Given the description of an element on the screen output the (x, y) to click on. 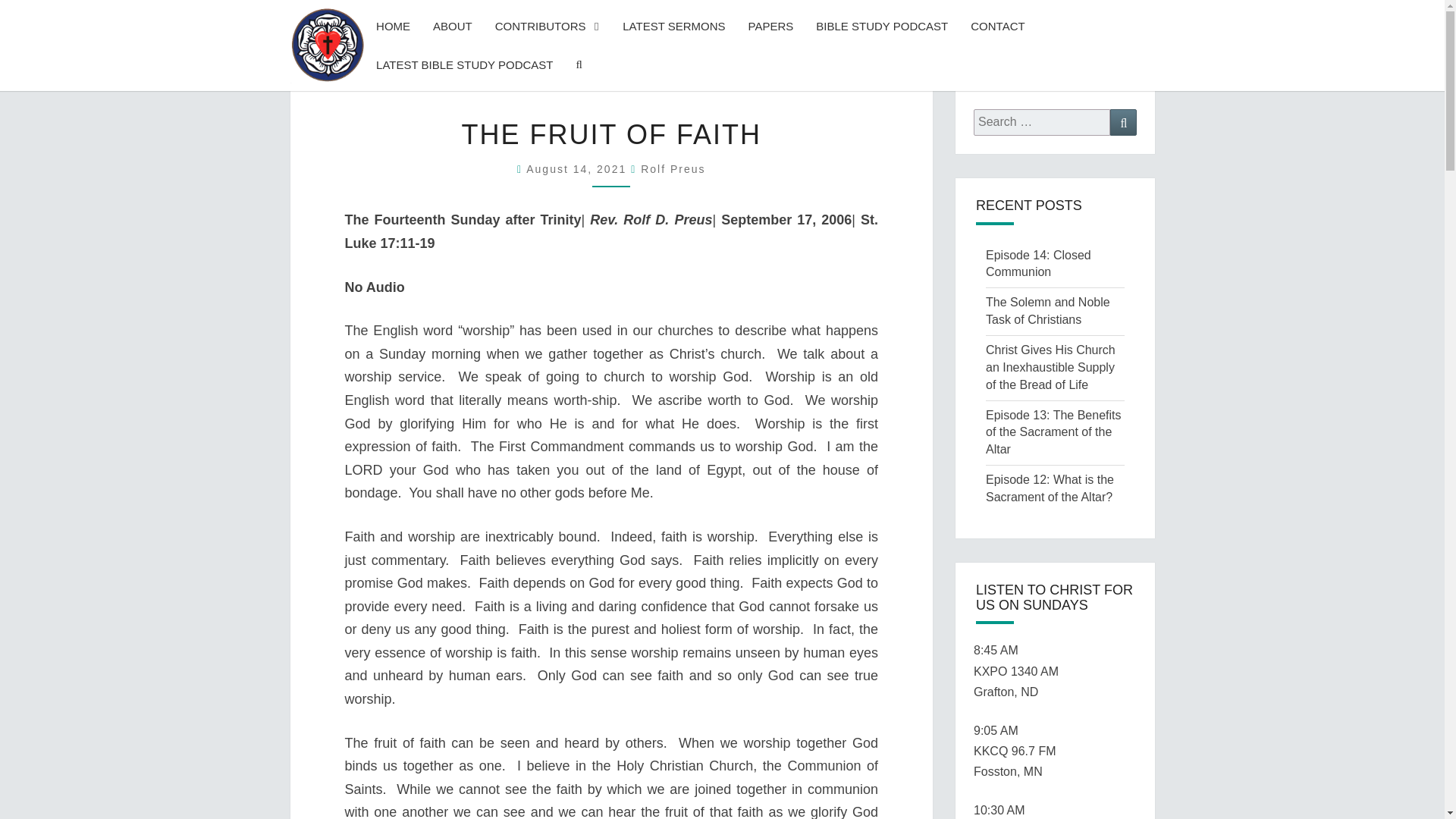
Episode 13: The Benefits of the Sacrament of the Altar (1053, 432)
Search for: (1041, 121)
LATEST BIBLE STUDY PODCAST (464, 64)
CONTACT (997, 25)
CONTRIBUTORS (547, 25)
View all posts by Rolf Preus (672, 168)
ABOUT (452, 25)
PAPERS (770, 25)
Search (1123, 121)
Episode 14: Closed Communion (1037, 263)
The Solemn and Noble Task of Christians (1047, 310)
HOME (393, 25)
Rolf Preus (672, 168)
August 14, 2021 (577, 168)
